Given the description of an element on the screen output the (x, y) to click on. 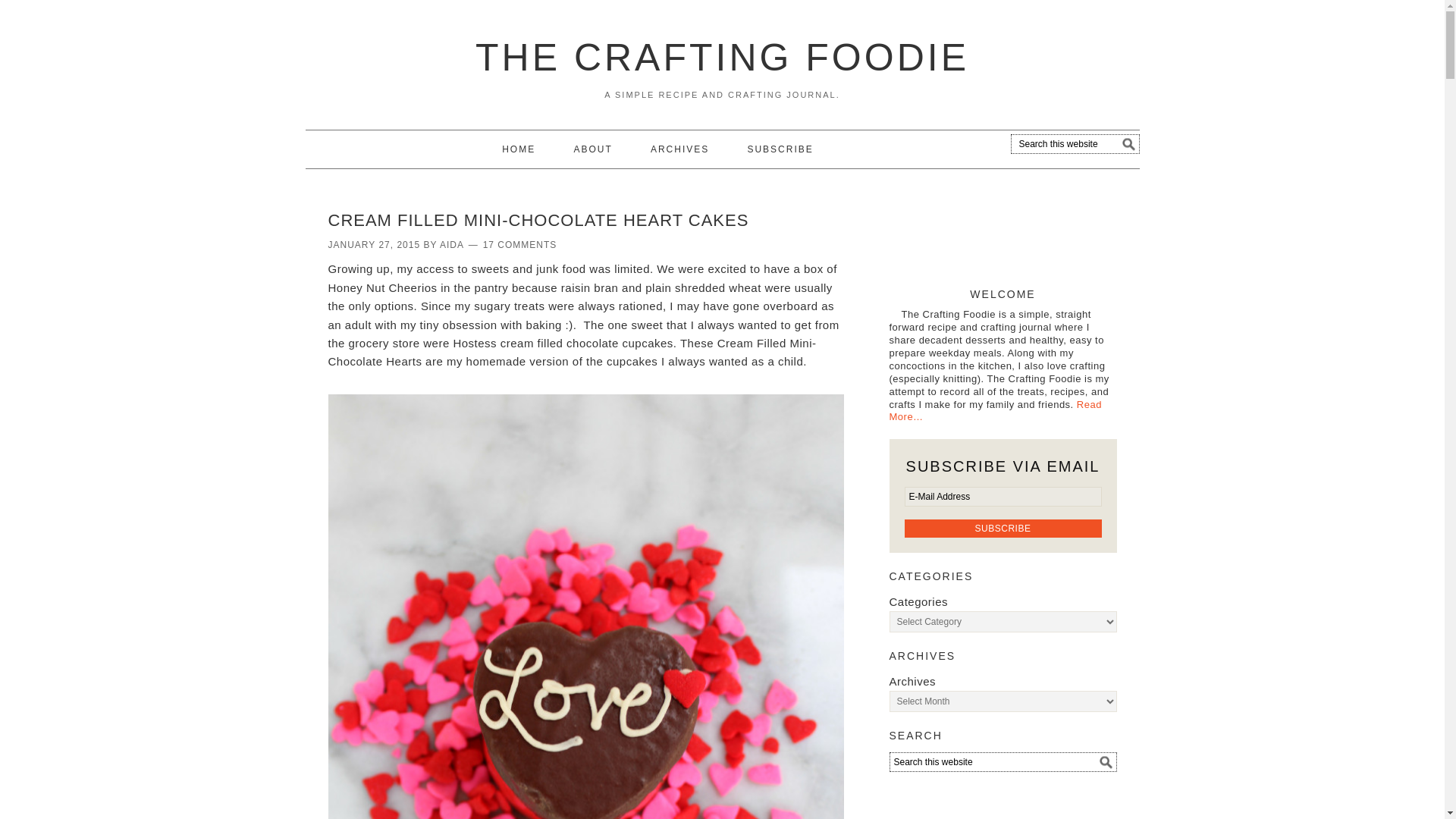
Subscribe (1002, 528)
Search (1146, 136)
Search (1146, 136)
THE CRAFTING FOODIE (722, 57)
ARCHIVES (679, 149)
ABOUT (592, 149)
17 COMMENTS (520, 244)
SUBSCRIBE (779, 149)
